Given the description of an element on the screen output the (x, y) to click on. 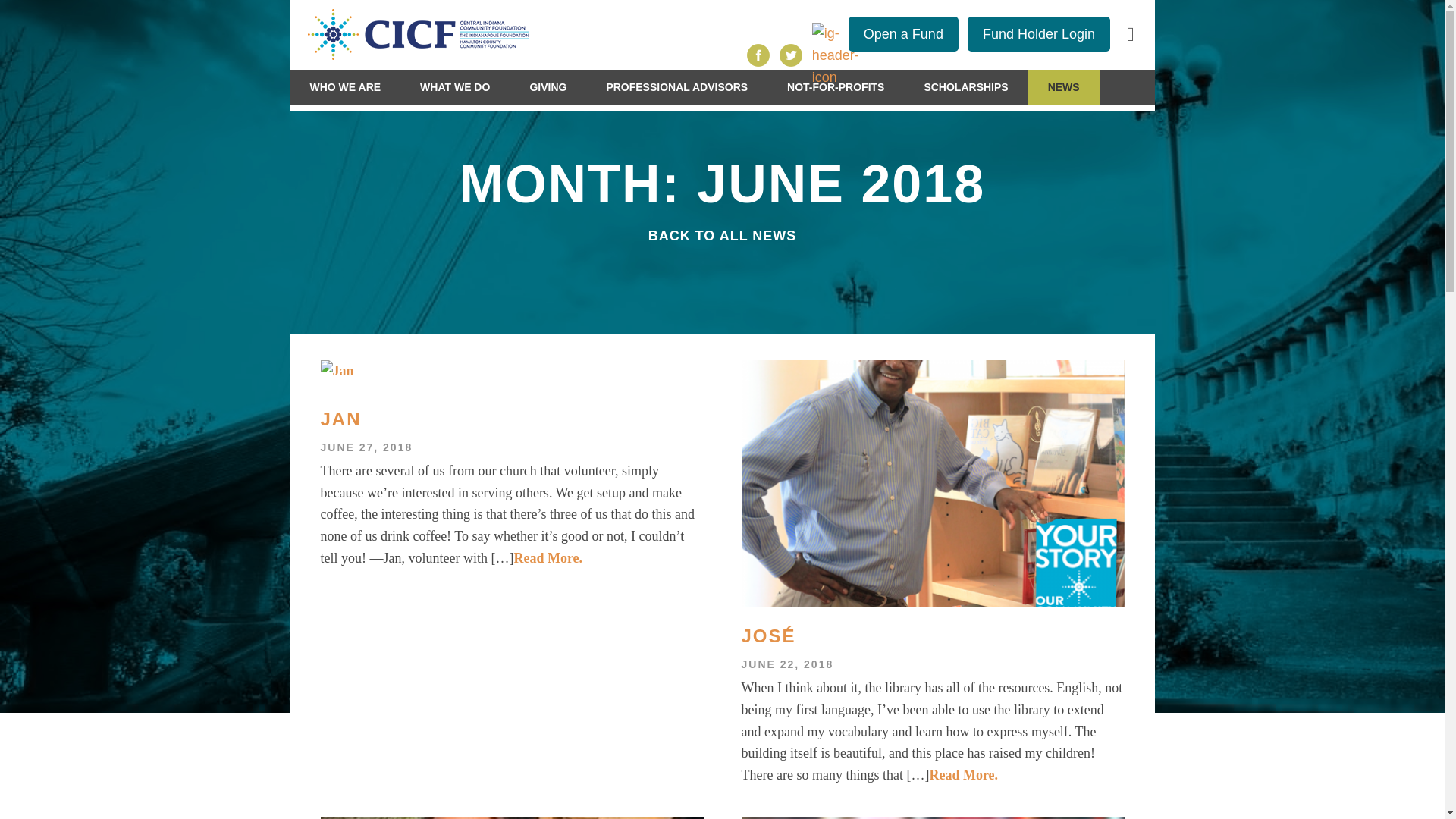
WHO WE ARE (344, 86)
Fund Holder Login (1038, 33)
WHAT WE DO (454, 86)
GIVING (547, 86)
Open a Fund (903, 33)
Jan (511, 418)
PROFESSIONAL ADVISORS (676, 86)
